Given the description of an element on the screen output the (x, y) to click on. 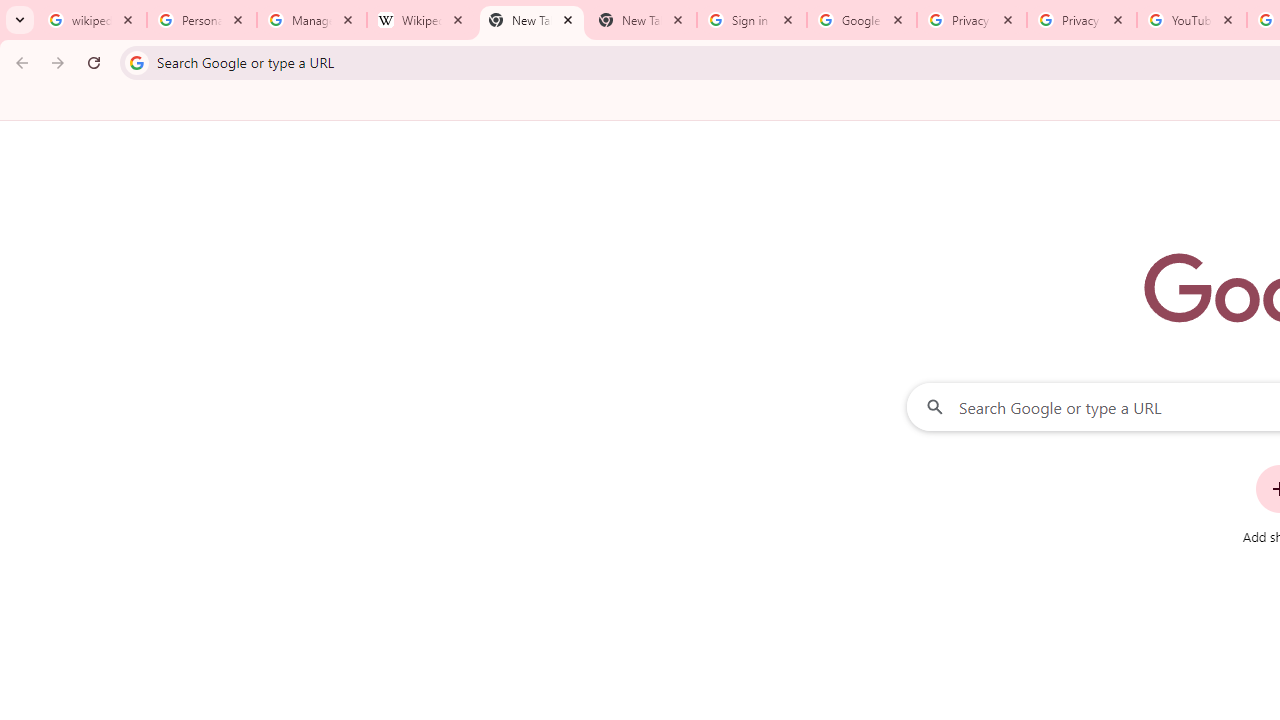
Google Drive: Sign-in (861, 20)
